Given the description of an element on the screen output the (x, y) to click on. 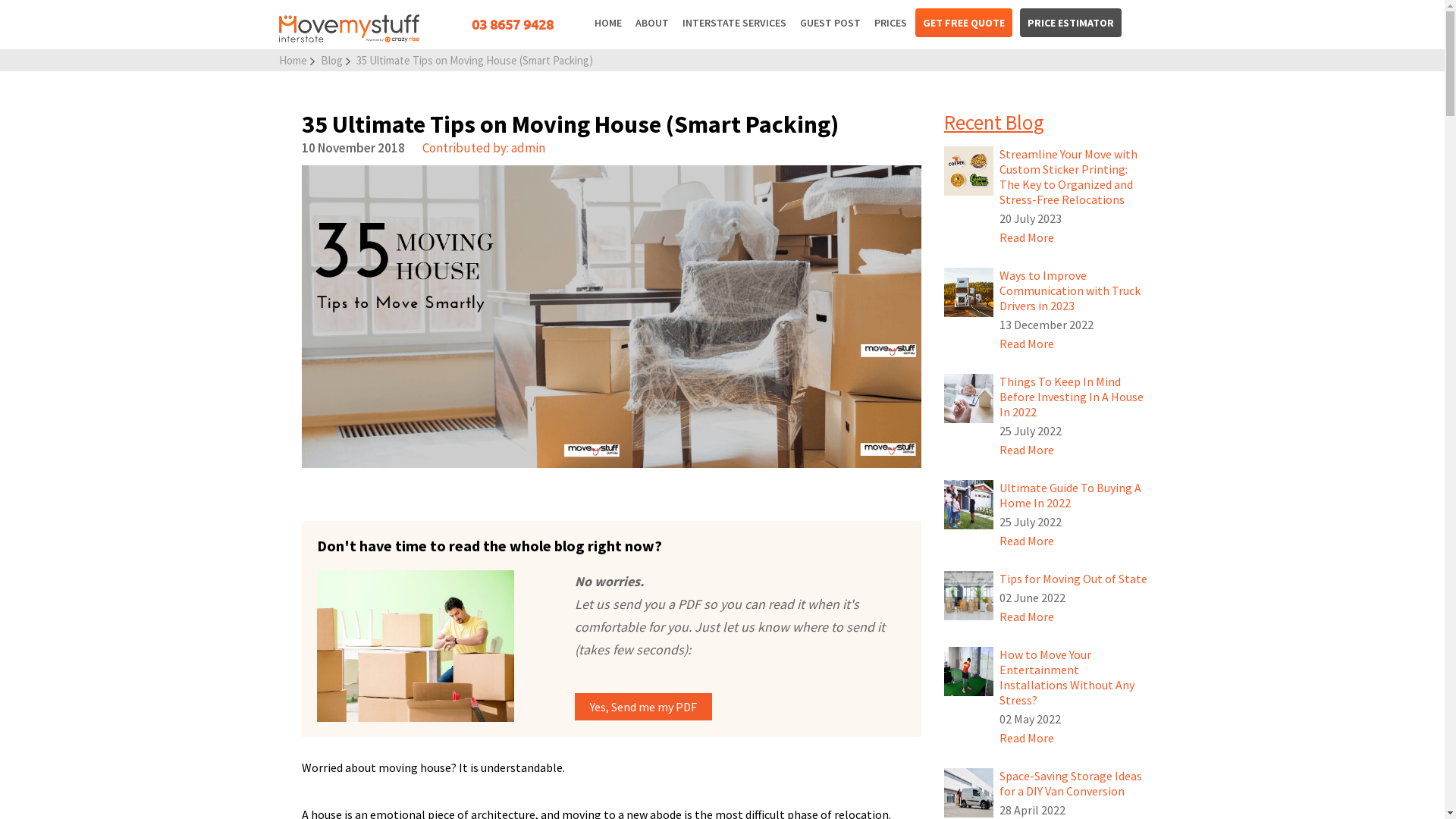
Things To Keep In Mind Before Investing In A House In 2022 Element type: hover (968, 418)
Tips for Moving Out of State
02 June 2022 Element type: text (1073, 597)
GET FREE QUOTE Element type: text (963, 22)
Ultimate Guide To Buying A Home In 2022
25 July 2022 Element type: text (1073, 514)
Read More Element type: text (1026, 236)
INTERSTATE SERVICES Element type: text (734, 22)
Ultimate Guide To Buying A Home In 2022 Element type: hover (968, 504)
What if you miss the deadline? Element type: hover (400, 645)
Tips for Moving Out of State Element type: hover (968, 595)
Move My Stuff Interstate Element type: hover (349, 28)
Read More Element type: text (1026, 540)
Home Element type: text (293, 60)
Read More Element type: text (1026, 449)
Yes, Send me my PDF Element type: text (643, 706)
Read More Element type: text (1026, 737)
HOME Element type: text (608, 22)
PRICES Element type: text (890, 22)
Ways to Improve Communication with Truck Drivers in 2023 Element type: hover (968, 291)
03 8657 9428 Element type: text (512, 24)
What if you miss the deadline? Element type: hover (430, 645)
35 Ultimate Tips on Moving House (Smart Packing) Element type: hover (611, 316)
Read More Element type: text (1026, 343)
Read More Element type: text (1026, 616)
Ways to Improve Communication with Truck Drivers in 2023 Element type: hover (968, 312)
35 Ultimate Tips on Moving House (Smart Packing) Element type: text (474, 60)
Move My Stuff Interstate Element type: hover (349, 39)
Things To Keep In Mind Before Investing In A House In 2022 Element type: hover (968, 398)
ABOUT Element type: text (652, 22)
PRICE ESTIMATOR Element type: text (1070, 22)
Ultimate Guide To Buying A Home In 2022 Element type: hover (968, 524)
Blog Element type: text (331, 60)
GUEST POST Element type: text (830, 22)
Tips for Moving Out of State Element type: hover (968, 615)
Space-Saving Storage Ideas for a DIY Van Conversion Element type: hover (968, 792)
